Given the description of an element on the screen output the (x, y) to click on. 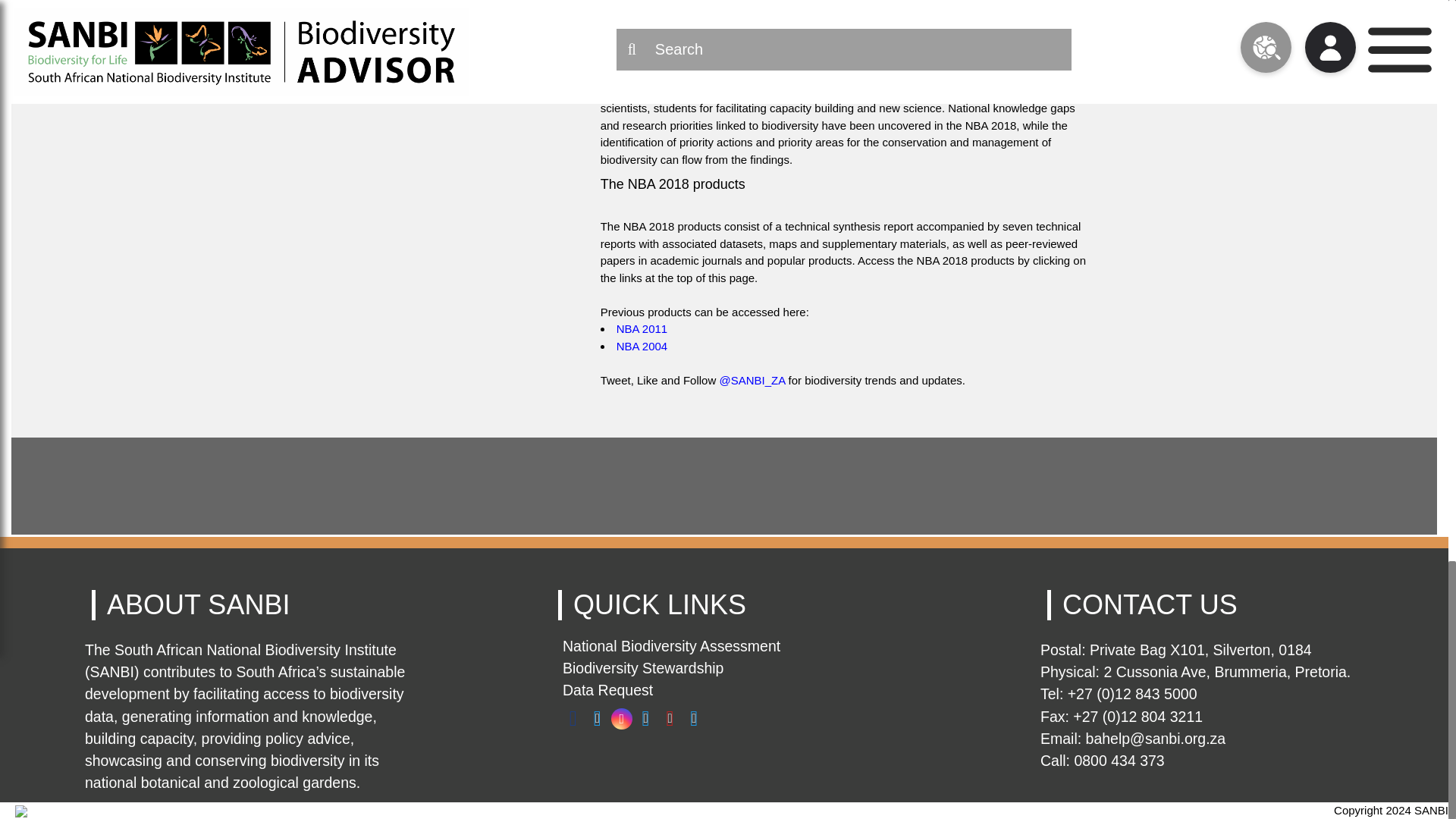
Biodiversity Stewardship (642, 668)
National Biodiversity Assessment (671, 646)
NBA 2011 (641, 328)
NBA 2004 (641, 345)
Data Request (607, 689)
